Given the description of an element on the screen output the (x, y) to click on. 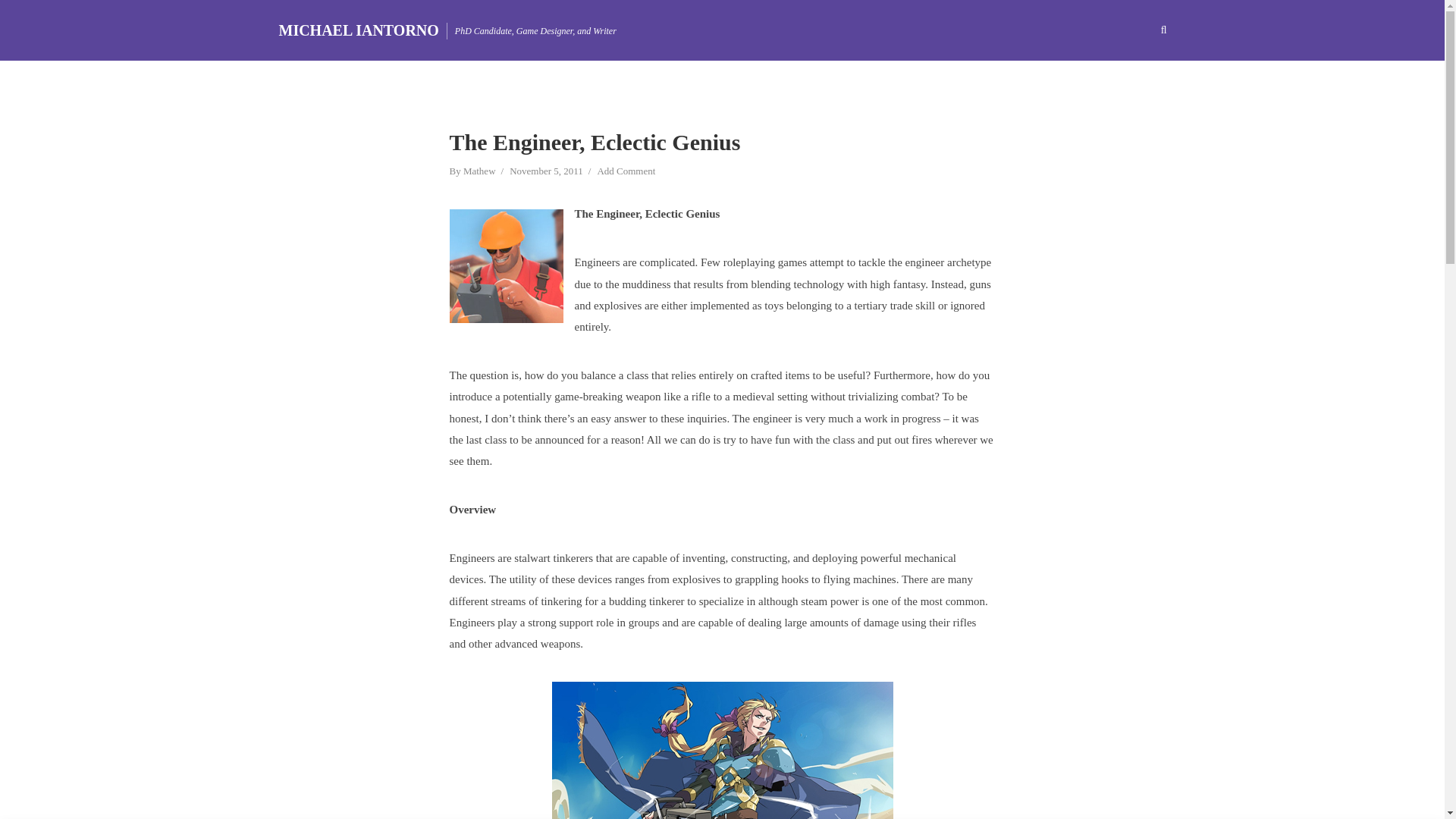
Chainsaw (722, 750)
MICHAEL IANTORNO (359, 30)
Mathew (479, 172)
Add Comment (625, 172)
Engineer (505, 265)
